Given the description of an element on the screen output the (x, y) to click on. 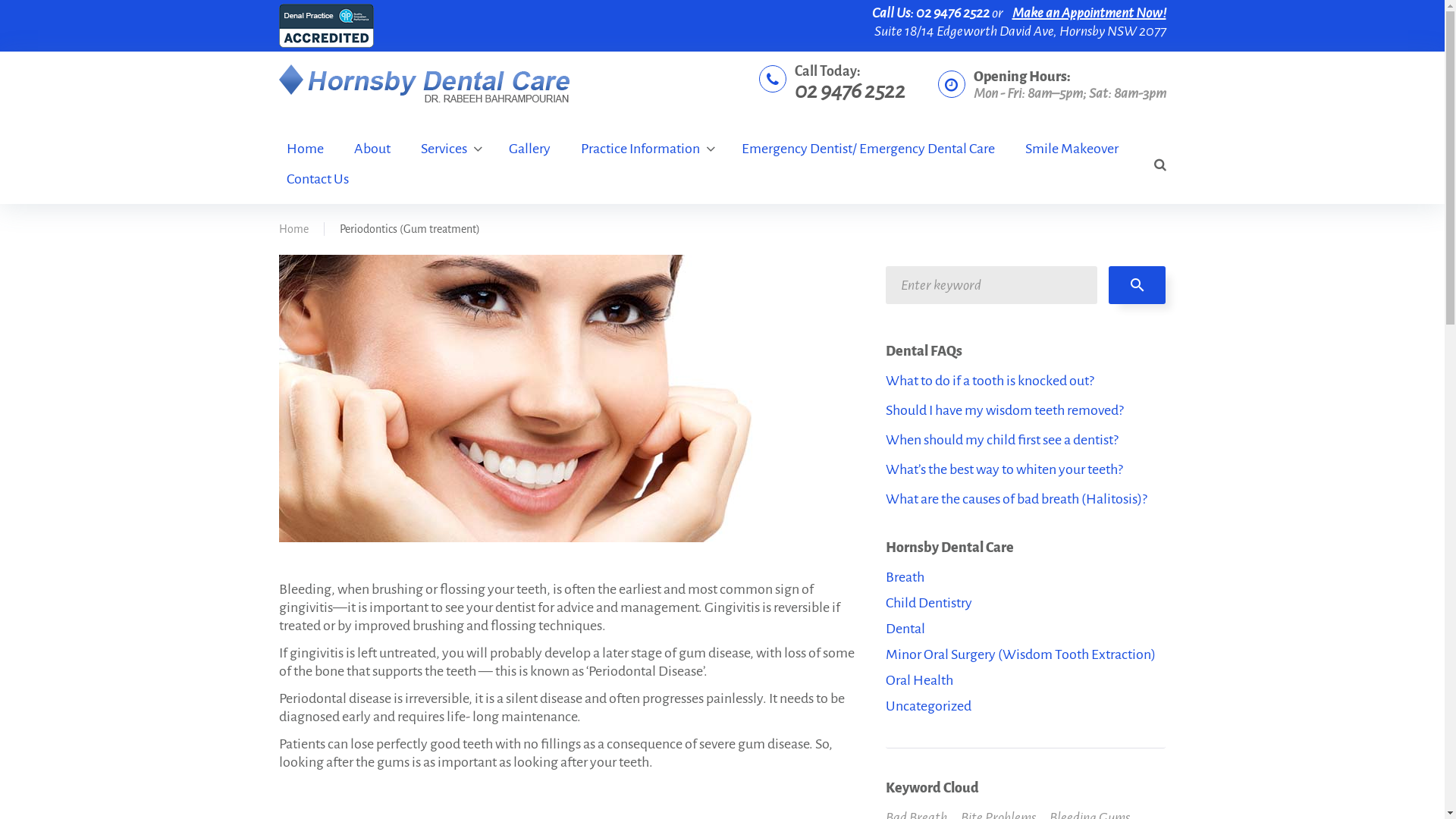
What to do if a tooth is knocked out? Element type: text (989, 380)
Should I have my wisdom teeth removed? Element type: text (1004, 410)
Contact Us Element type: text (317, 178)
Minor Oral Surgery (Wisdom Tooth Extraction) Element type: text (1020, 654)
When should my child first see a dentist? Element type: text (1001, 439)
Make an Appointment Now! Element type: text (1088, 12)
Dental Element type: text (905, 628)
Uncategorized Element type: text (928, 705)
Services Element type: text (448, 148)
Child Dentistry Element type: text (928, 602)
Search for: Element type: hover (991, 285)
About Element type: text (371, 148)
Preventative Dental Care Element type: hover (563, 398)
Breath Element type: text (904, 576)
Practice Information Element type: text (645, 148)
Home Element type: text (293, 228)
Skip to content Element type: text (0, 0)
Home Element type: text (305, 148)
Emergency Dentist/ Emergency Dental Care Element type: text (868, 148)
Oral Health Element type: text (919, 679)
Gallery Element type: text (528, 148)
search Element type: text (1136, 285)
What are the causes of bad breath (Halitosis)? Element type: text (1016, 498)
Smile Makeover Element type: text (1071, 148)
